Given the description of an element on the screen output the (x, y) to click on. 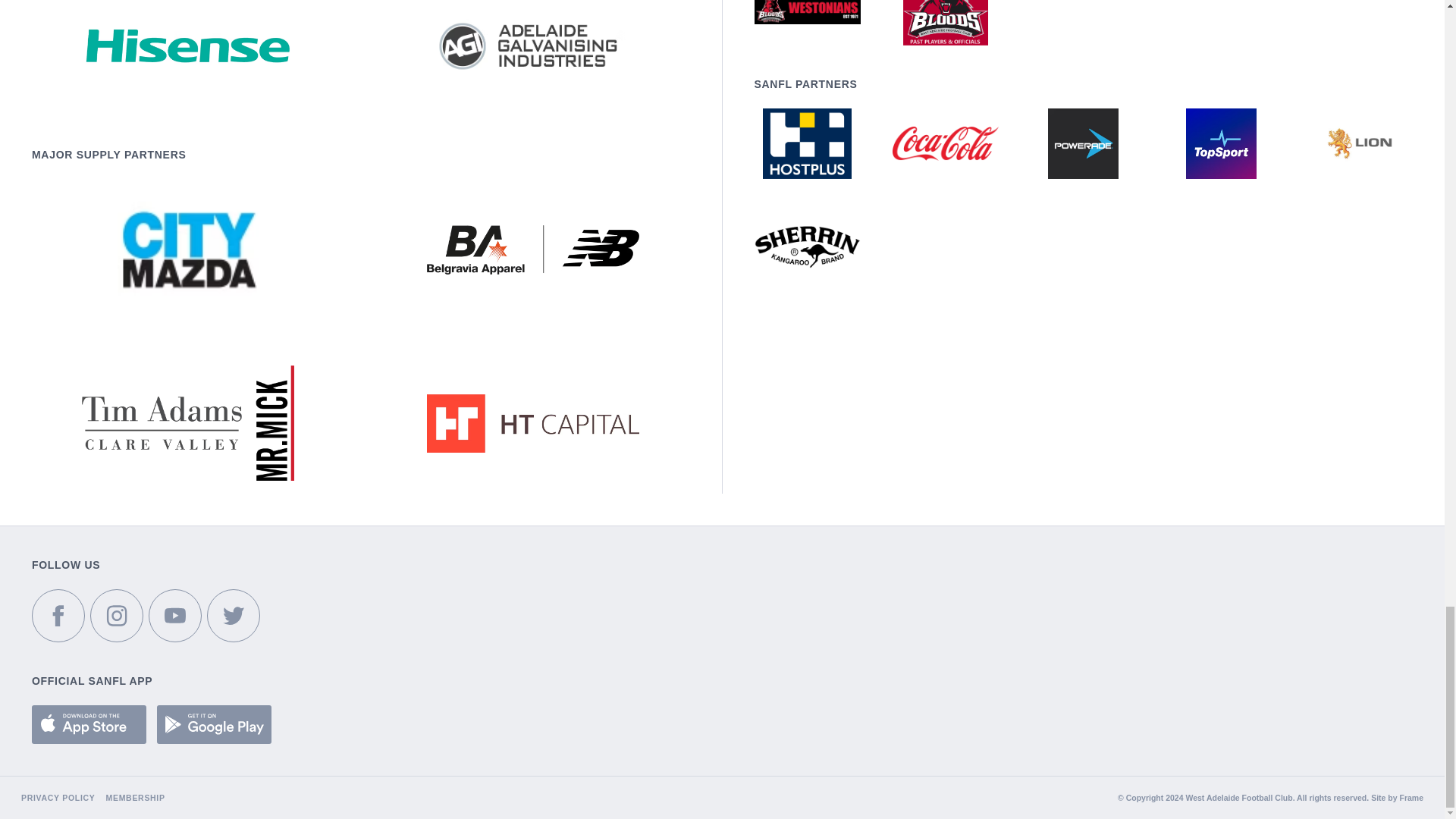
Website Design and Development by Frame Creative (1411, 797)
